Given the description of an element on the screen output the (x, y) to click on. 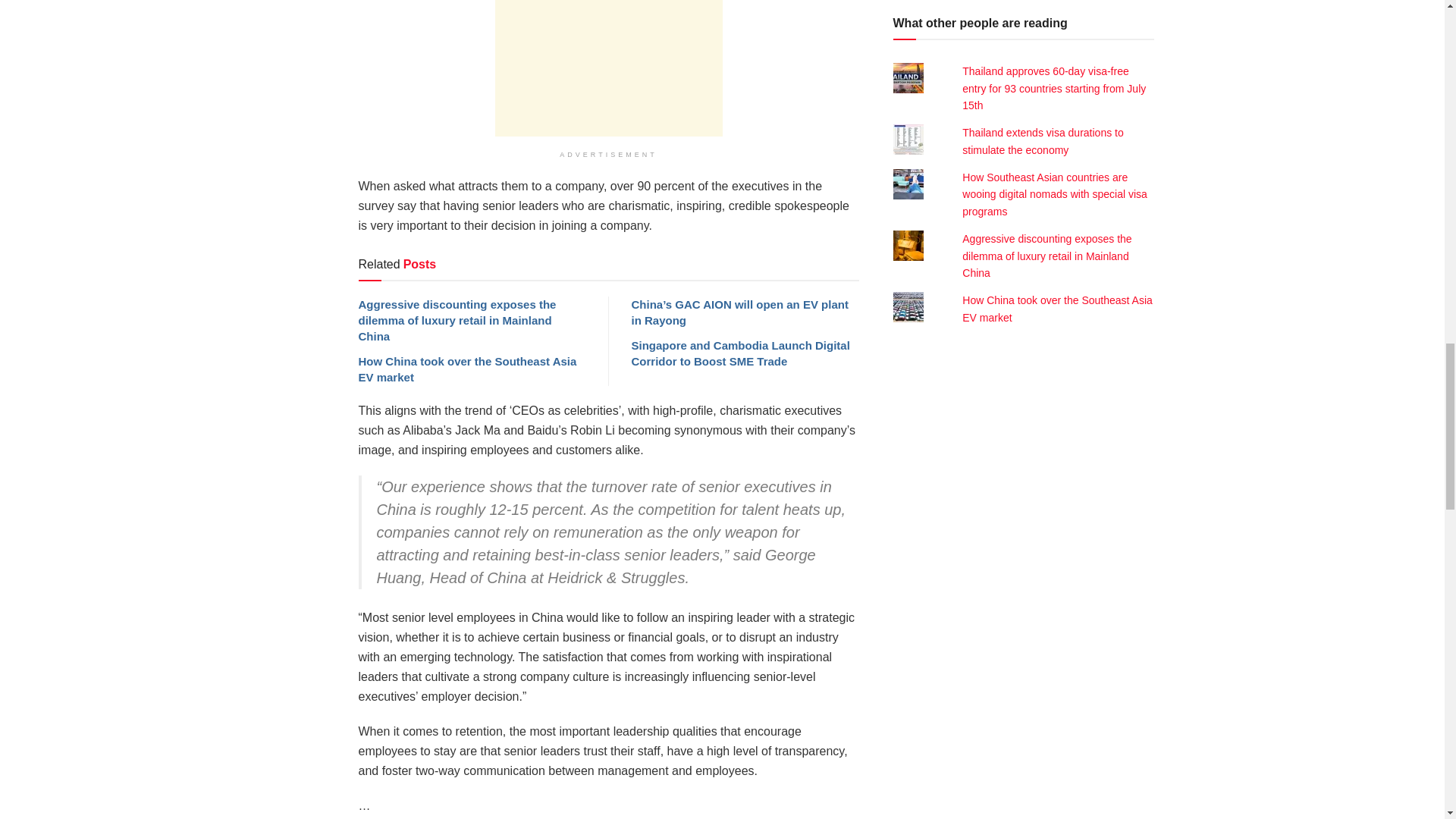
Thailand extends visa durations to stimulate the economy (1042, 140)
